Given the description of an element on the screen output the (x, y) to click on. 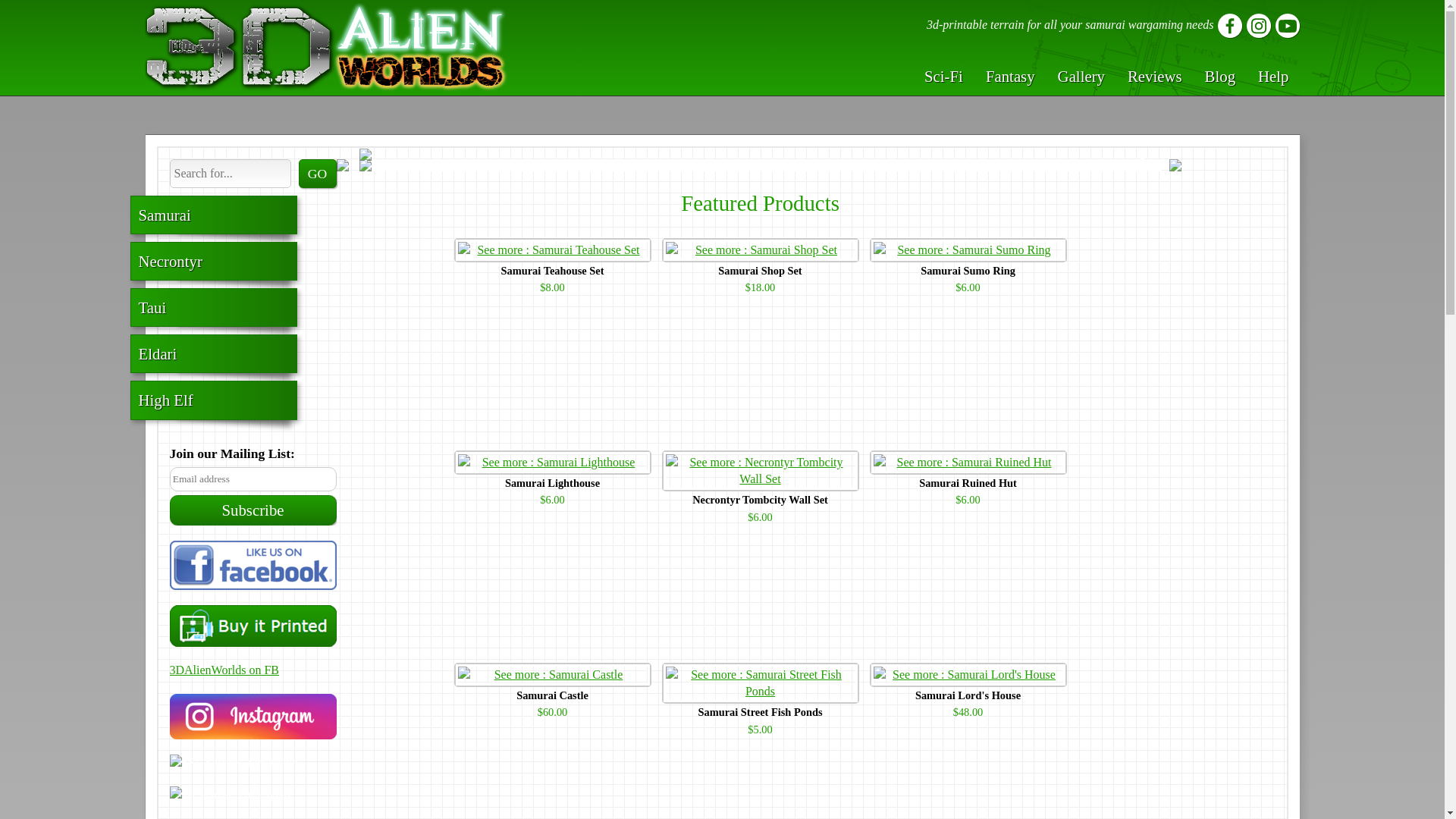
GO (317, 173)
Help (1273, 76)
Gallery (1081, 76)
GO (317, 173)
Blog (1219, 76)
See more : Samurai Sumo Ring (967, 250)
Subscribe (253, 510)
See more : Necrontyr Tombcity Wall Set (759, 471)
Instagram (253, 716)
See more : Samurai Street Fish Ponds (759, 683)
